Given the description of an element on the screen output the (x, y) to click on. 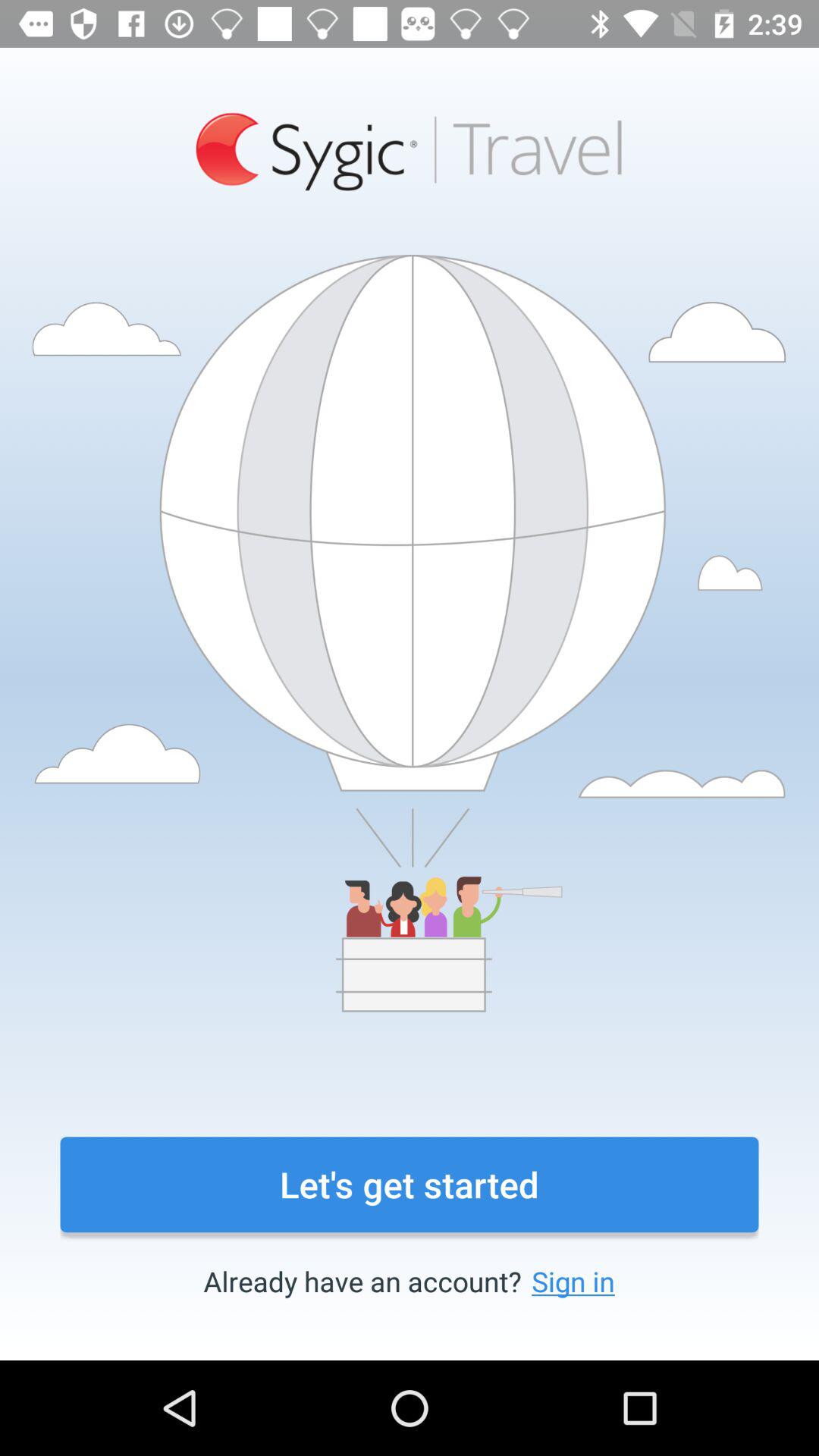
press the icon above the already have an item (409, 1184)
